Given the description of an element on the screen output the (x, y) to click on. 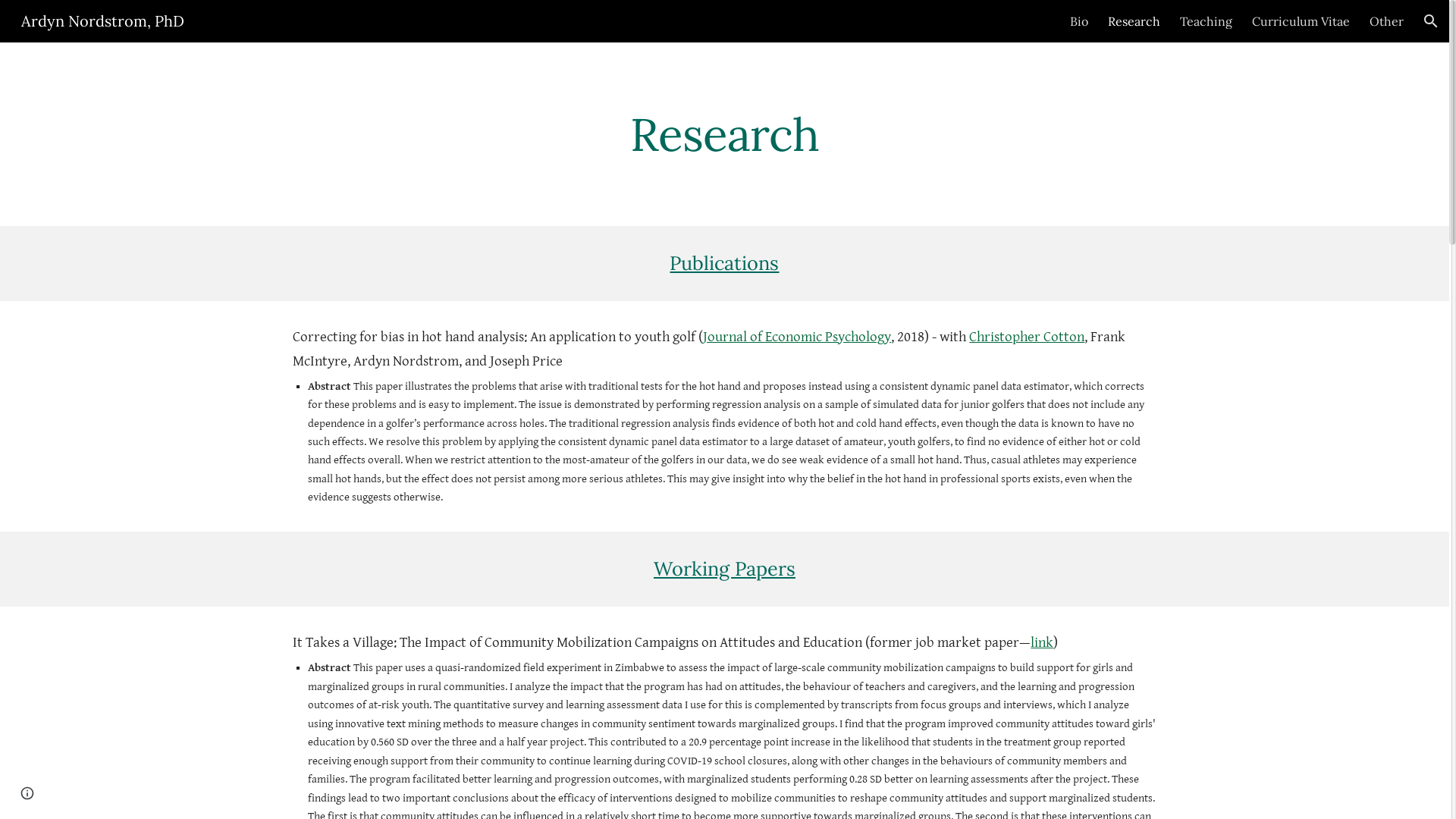
Journal of Economic Psychology Element type: text (796, 337)
Curriculum Vitae Element type: text (1300, 20)
Teaching Element type: text (1205, 20)
Research Element type: text (1133, 20)
link Element type: text (1041, 643)
Bio Element type: text (1079, 20)
Christopher Cotton Element type: text (1026, 337)
Other Element type: text (1386, 20)
Ardyn Nordstrom, PhD Element type: text (102, 18)
